Given the description of an element on the screen output the (x, y) to click on. 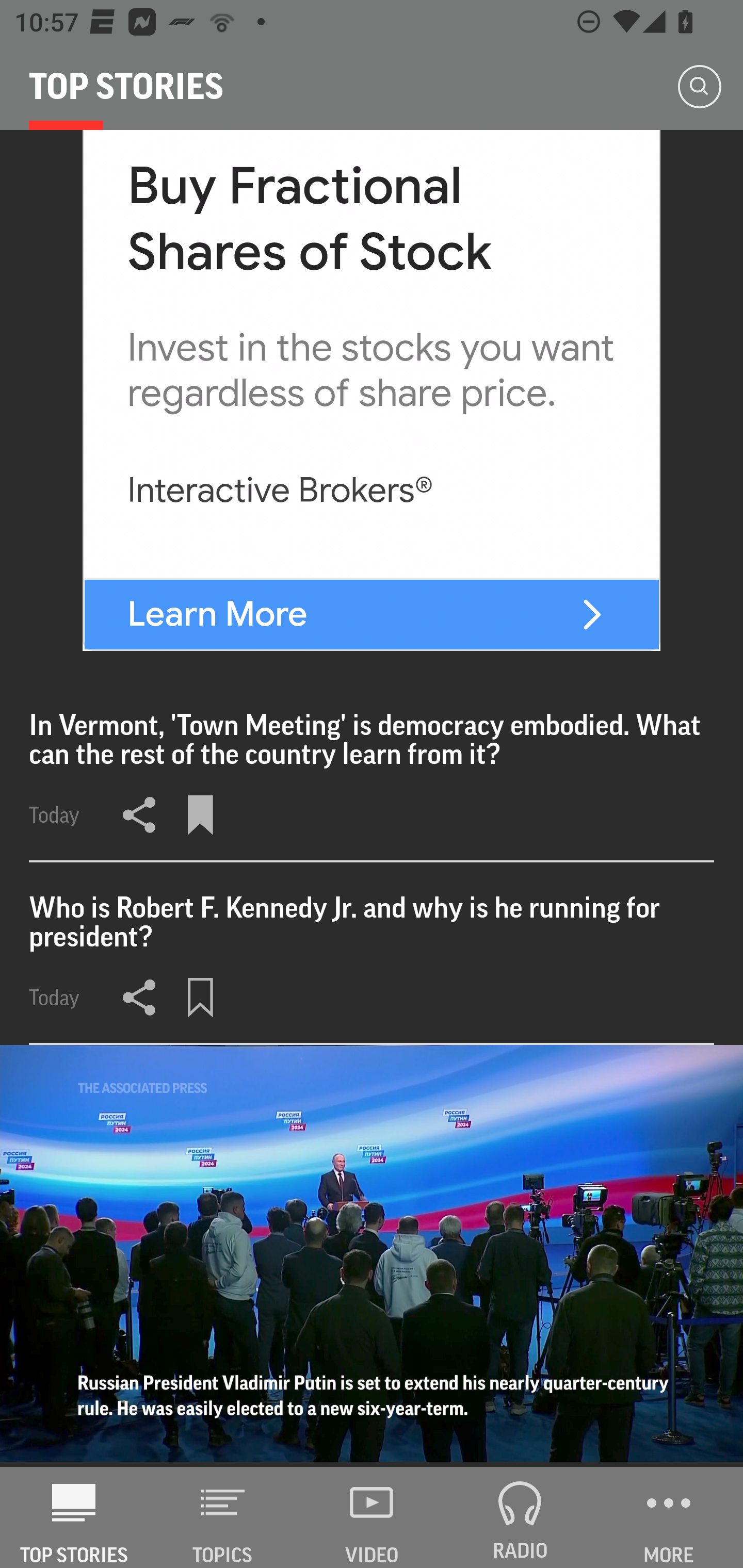
Interactive Brokers® (279, 489)
Learn More (216, 613)
toggle controls (371, 1255)
AP News TOP STORIES (74, 1517)
TOPICS (222, 1517)
VIDEO (371, 1517)
RADIO (519, 1517)
MORE (668, 1517)
